Given the description of an element on the screen output the (x, y) to click on. 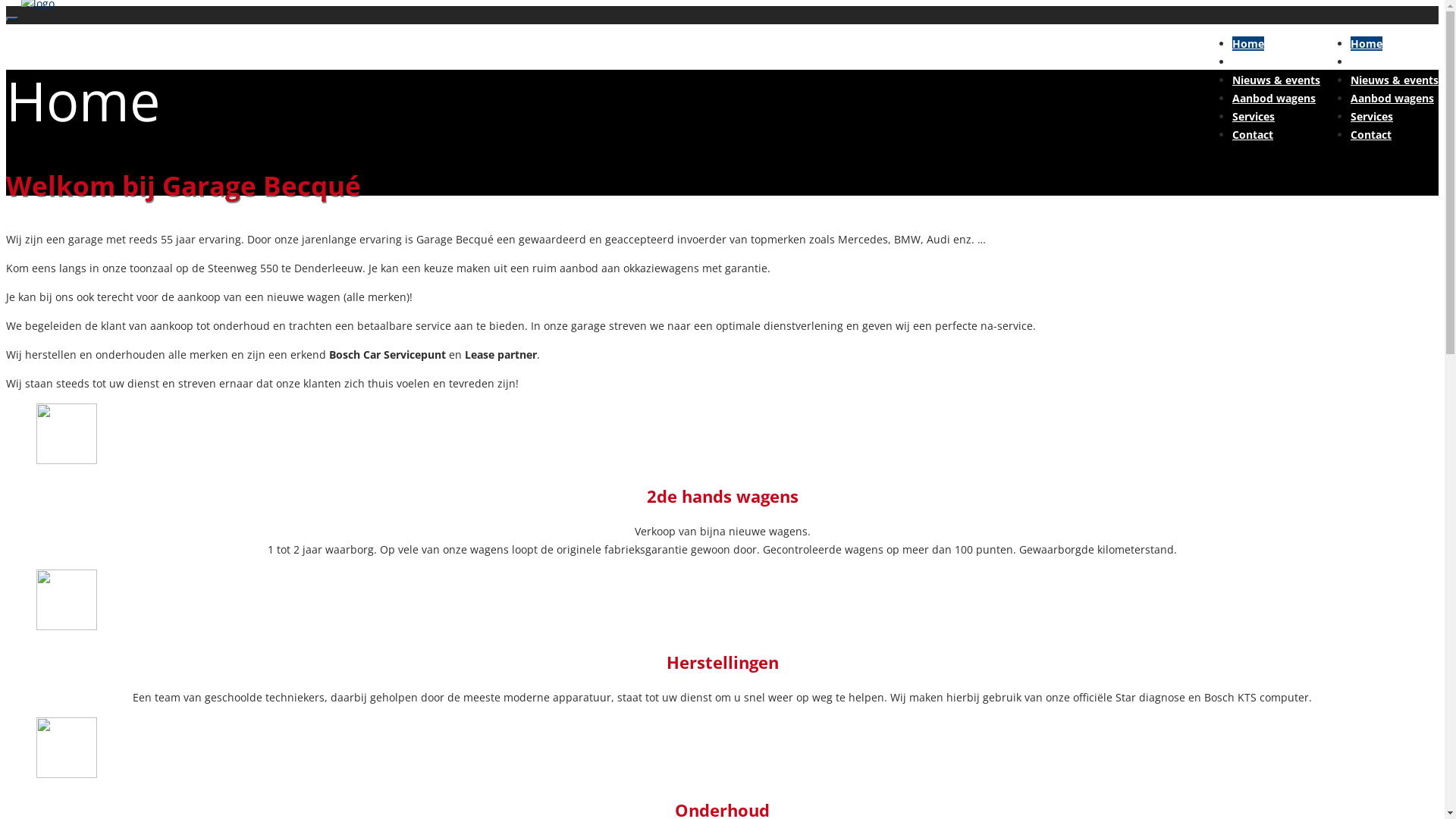
Nieuws & events Element type: text (1394, 79)
Home Element type: text (1366, 43)
Contact Element type: text (1252, 134)
Nieuws & events Element type: text (1276, 79)
Over ons Element type: text (1255, 61)
Over ons Element type: text (1373, 61)
Services Element type: text (1253, 116)
Aanbod wagens Element type: text (1392, 98)
Home Element type: text (1248, 43)
Aanbod wagens Element type: text (1273, 98)
Contact Element type: text (1370, 134)
Services Element type: text (1371, 116)
Toggle navigation Element type: text (12, 18)
